Given the description of an element on the screen output the (x, y) to click on. 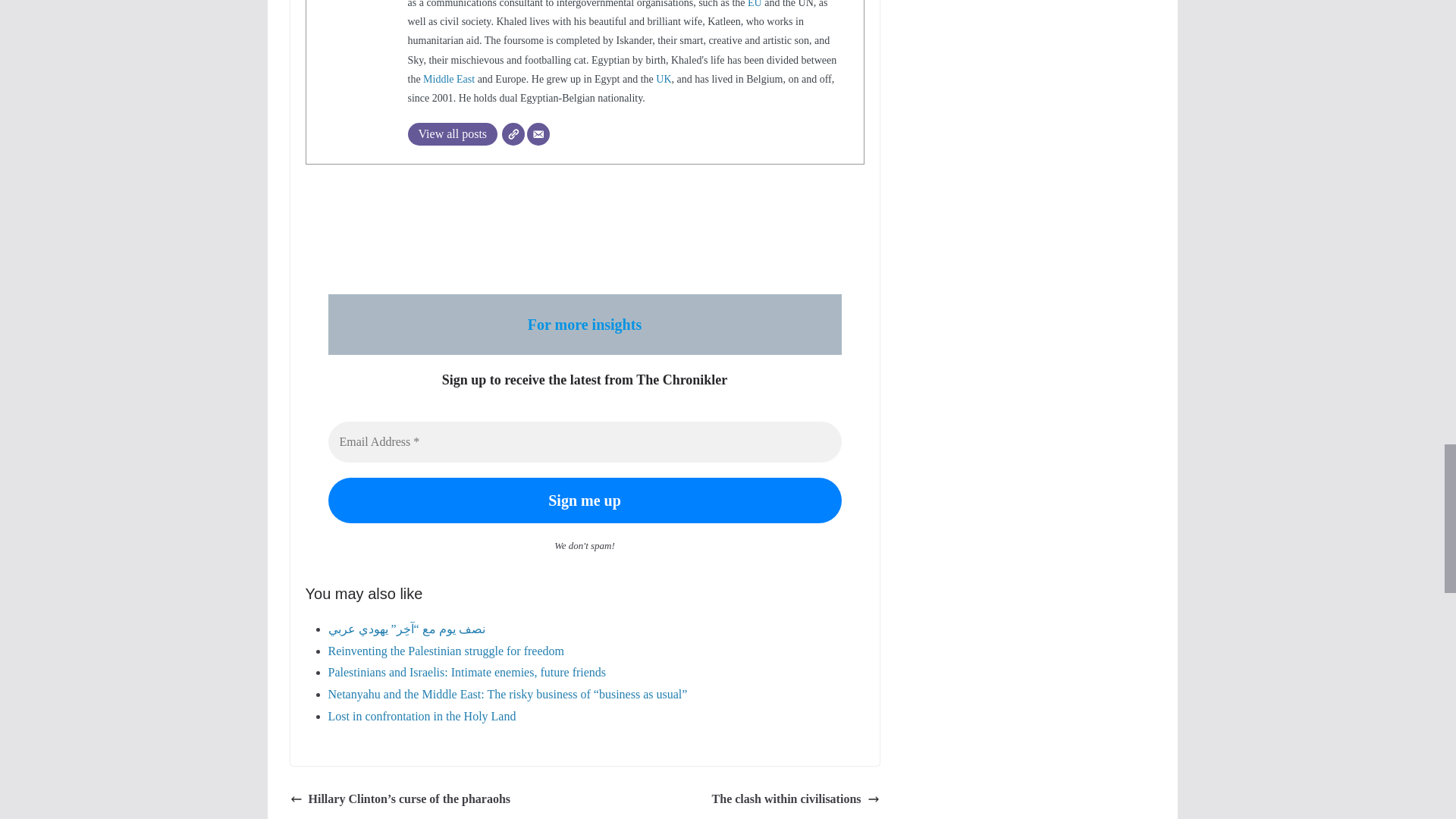
Sign me up (584, 500)
